Given the description of an element on the screen output the (x, y) to click on. 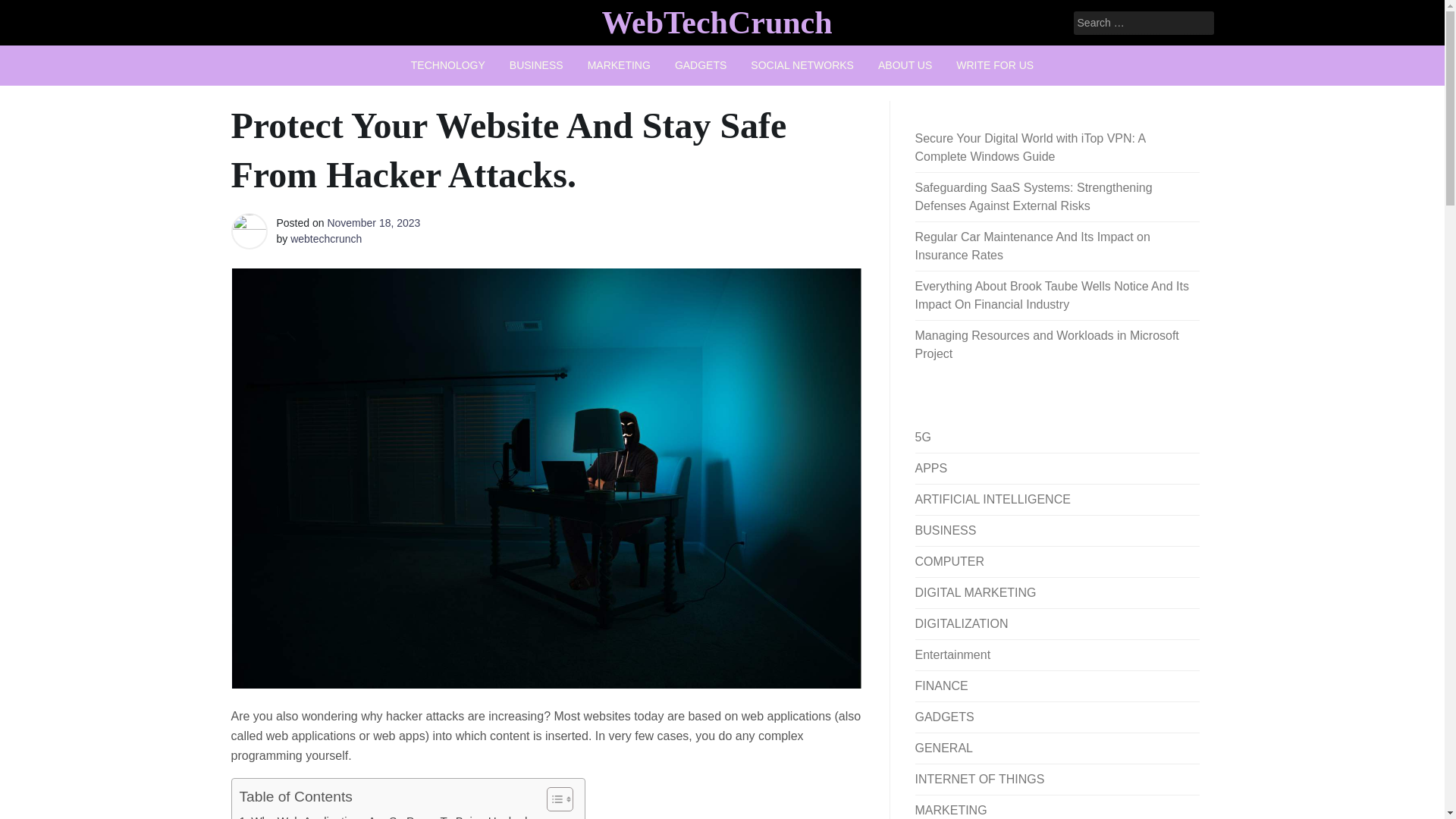
MARKETING (618, 65)
BUSINESS (536, 65)
WRITE FOR US (994, 65)
webtechcrunch (325, 238)
GADGETS (700, 65)
Why Web Applications Are So Prone To Being Hacked (383, 815)
ABOUT US (904, 65)
Search (32, 12)
WebTechCrunch (716, 22)
Why Web Applications Are So Prone To Being Hacked (383, 815)
November 18, 2023 (373, 223)
TECHNOLOGY (447, 65)
SOCIAL NETWORKS (802, 65)
